Given the description of an element on the screen output the (x, y) to click on. 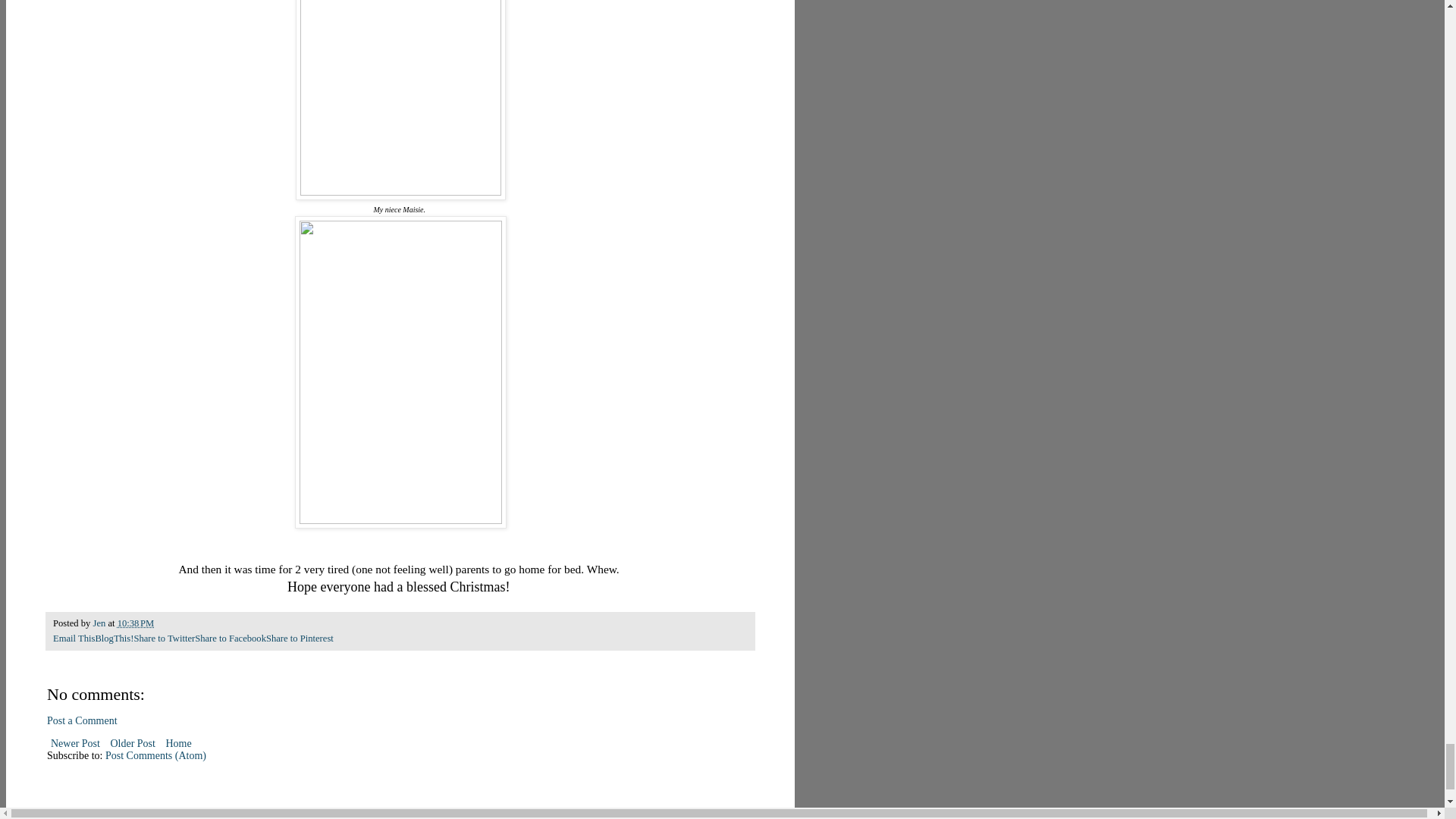
Email This (73, 638)
Newer Post (74, 742)
Share to Facebook (230, 638)
Share to Pinterest (299, 638)
author profile (100, 623)
Older Post (132, 742)
BlogThis! (113, 638)
Share to Twitter (164, 638)
permanent link (135, 623)
